Given the description of an element on the screen output the (x, y) to click on. 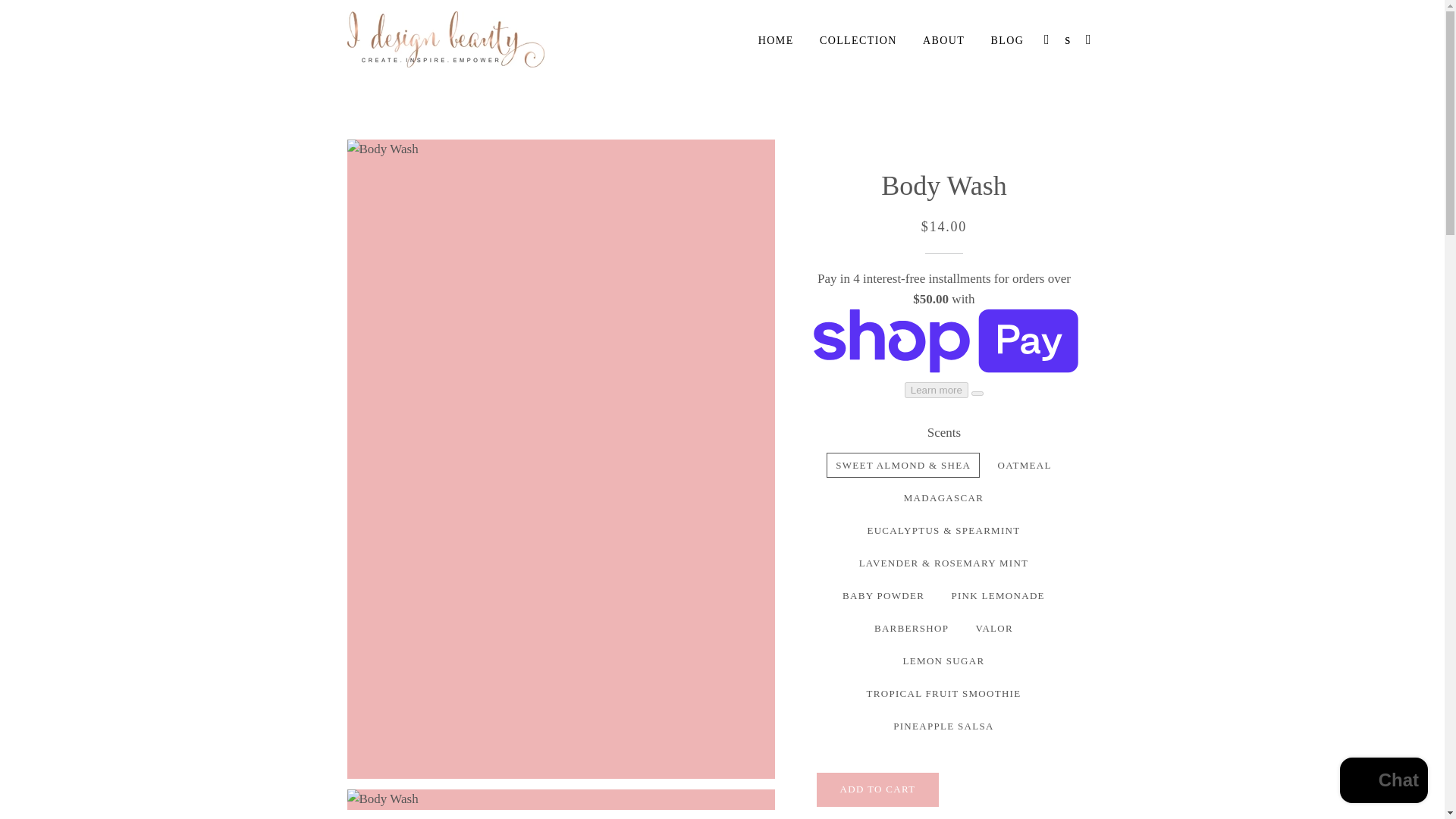
Shopify online store chat (1383, 781)
HOME (775, 40)
COLLECTION (858, 40)
BLOG (1007, 40)
ABOUT (943, 40)
